Given the description of an element on the screen output the (x, y) to click on. 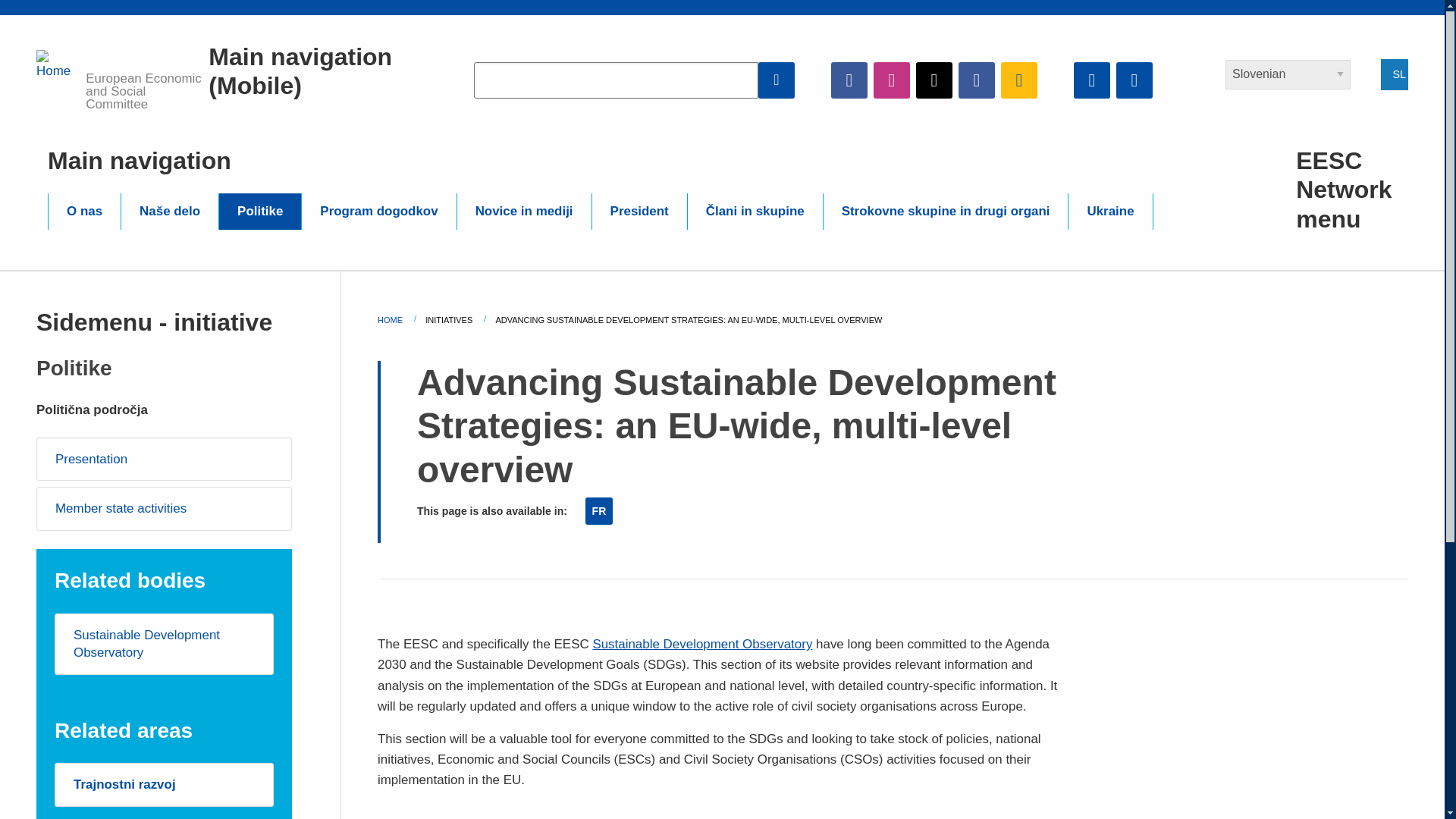
Apply (776, 80)
